Given the description of an element on the screen output the (x, y) to click on. 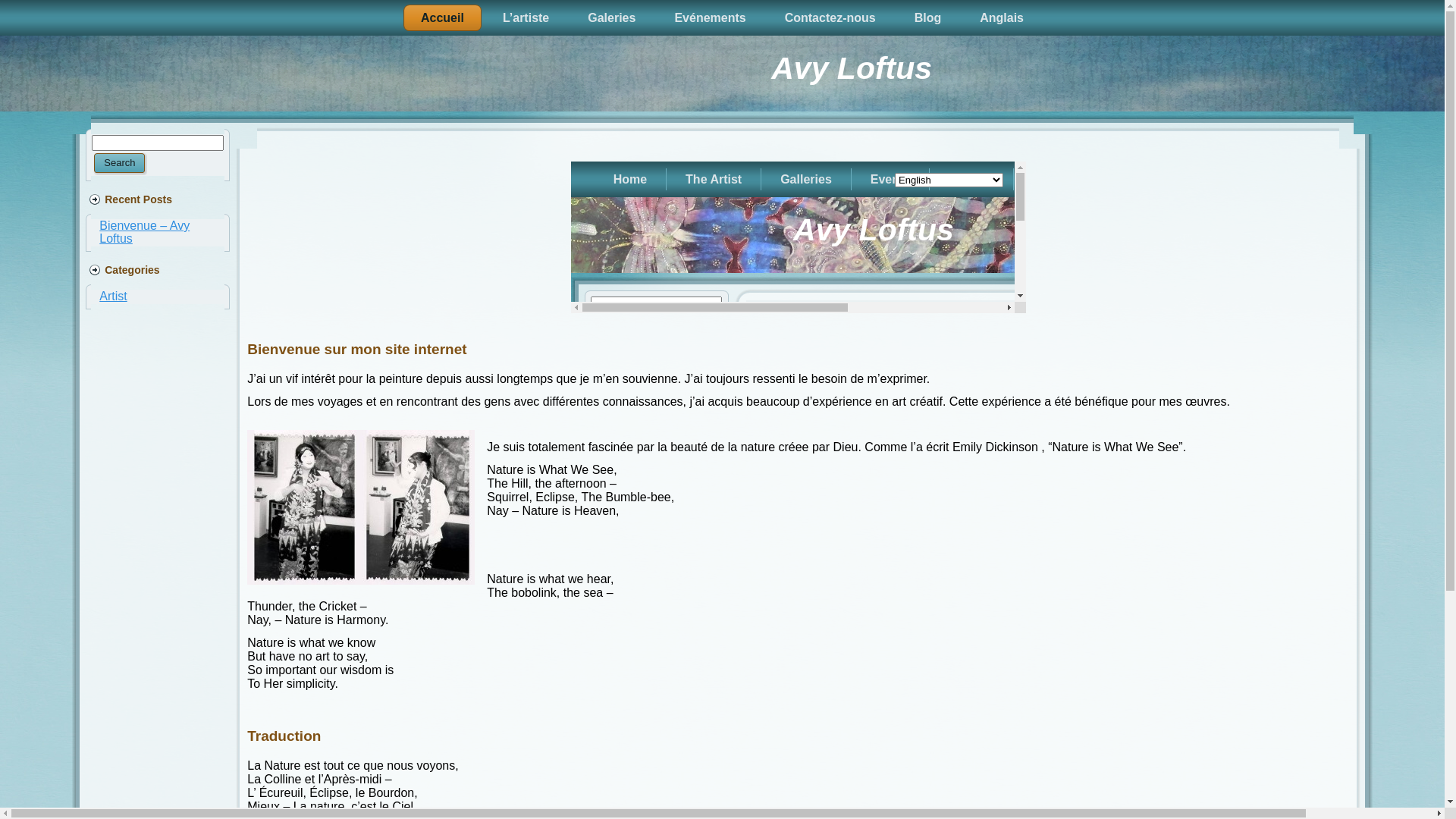
Anglais Element type: text (1001, 17)
Accueil Element type: text (442, 17)
Avy Loftus Element type: text (851, 67)
Artist Element type: text (112, 295)
Galeries Element type: text (611, 17)
Search Element type: text (119, 162)
Contactez-nous Element type: text (830, 17)
Blog Element type: text (928, 17)
